Given the description of an element on the screen output the (x, y) to click on. 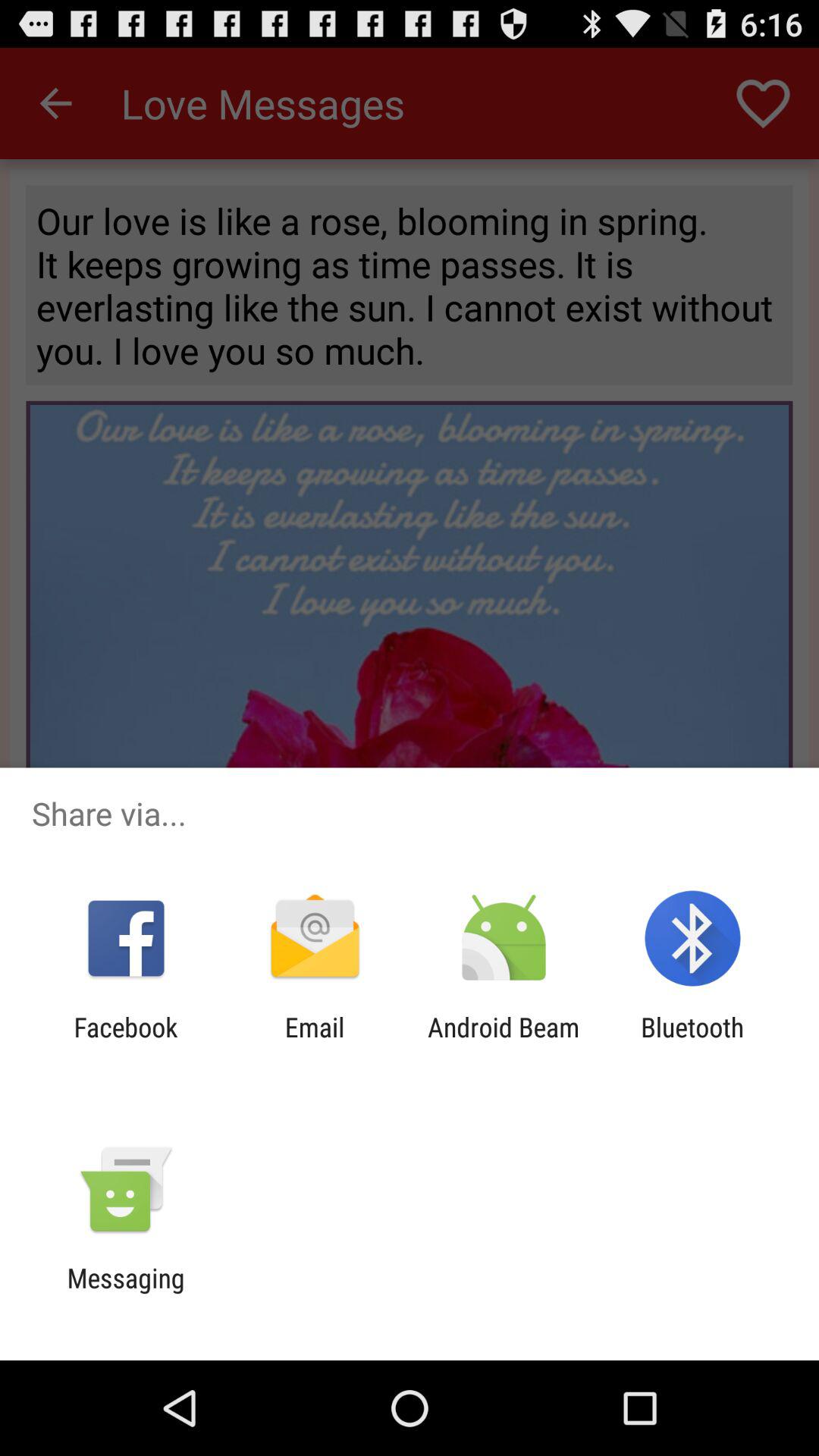
choose the app next to android beam app (314, 1042)
